Given the description of an element on the screen output the (x, y) to click on. 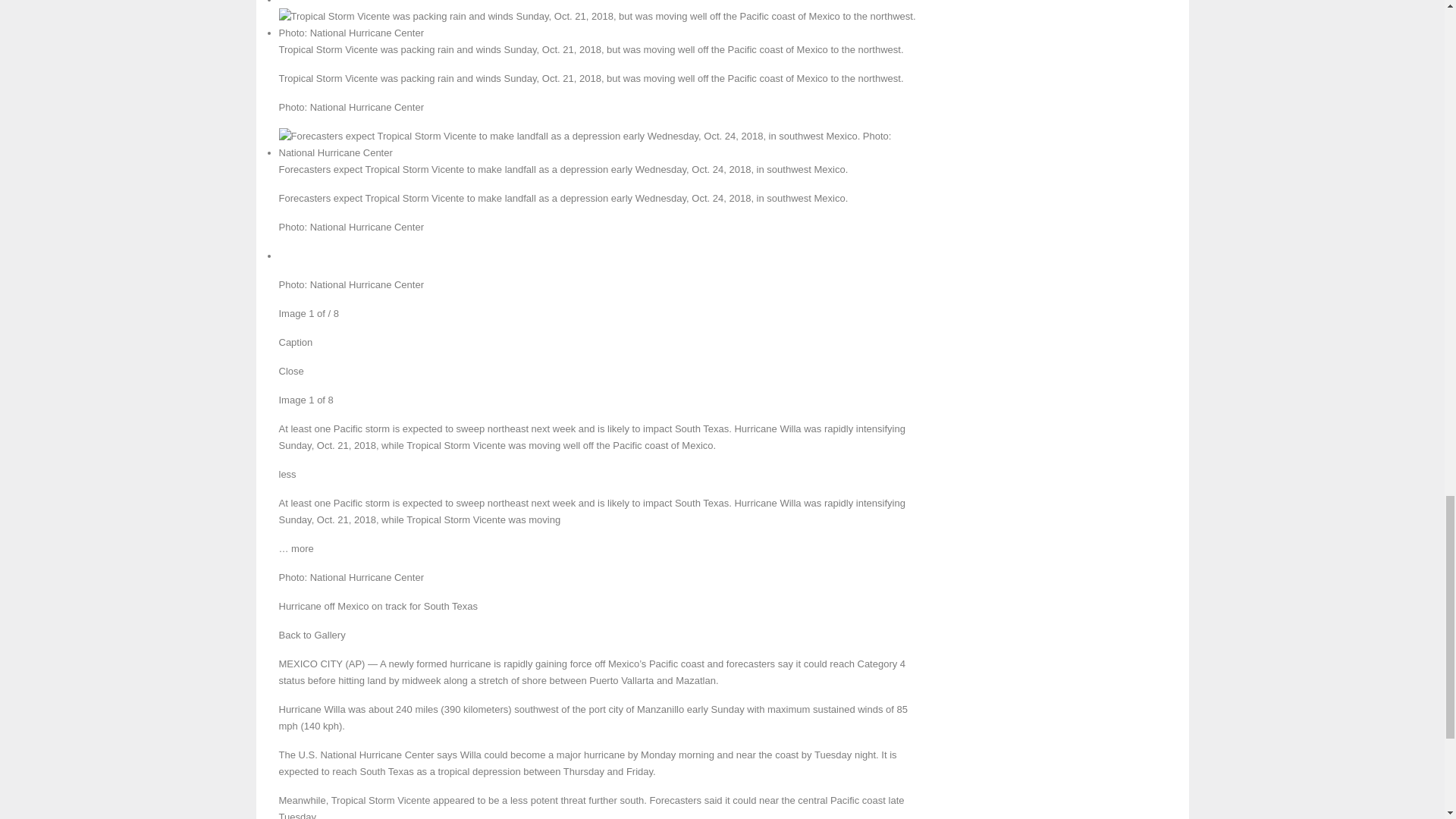
less (288, 473)
